Given the description of an element on the screen output the (x, y) to click on. 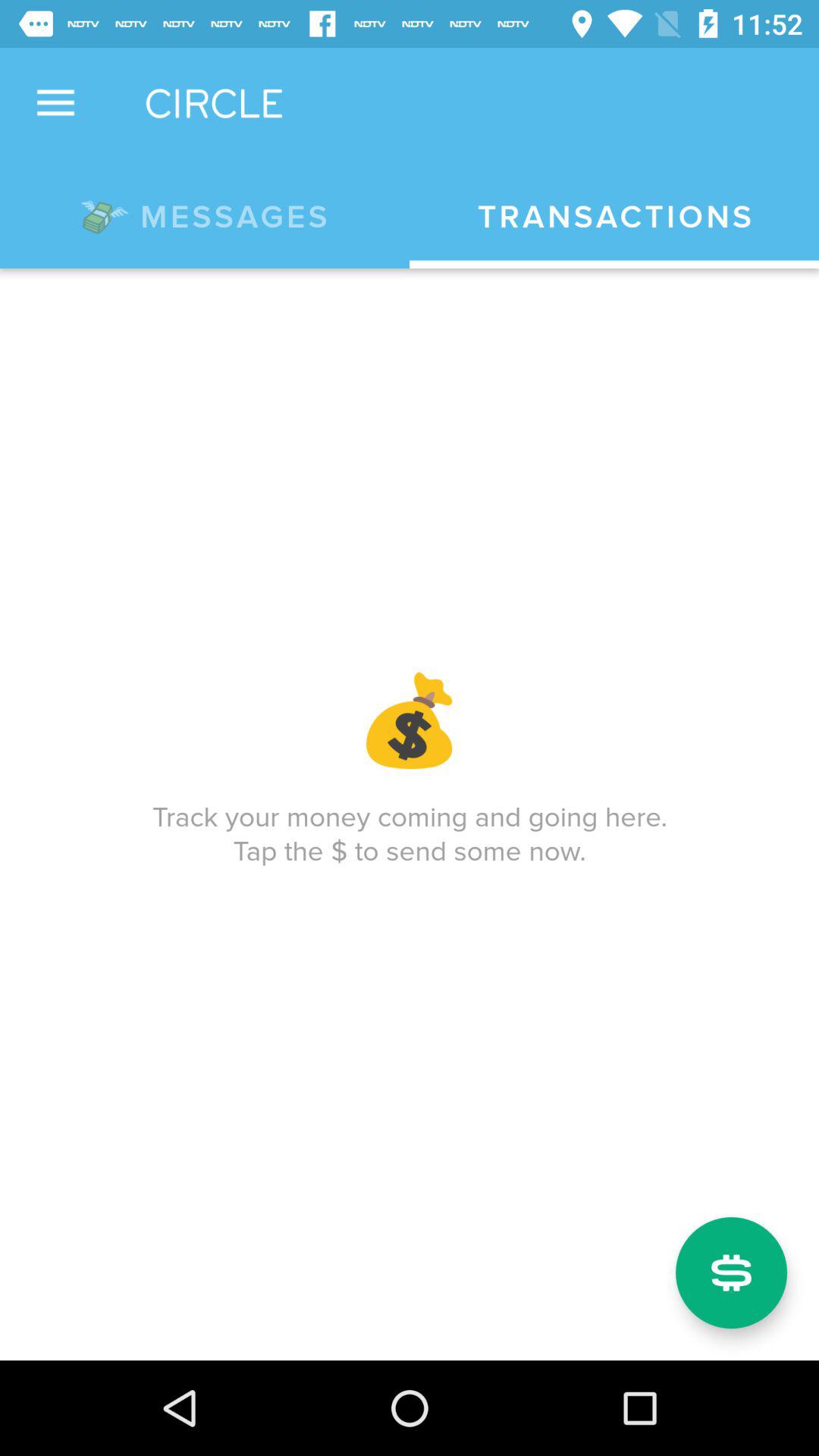
turn off the icon to the left of transactions item (204, 213)
